Given the description of an element on the screen output the (x, y) to click on. 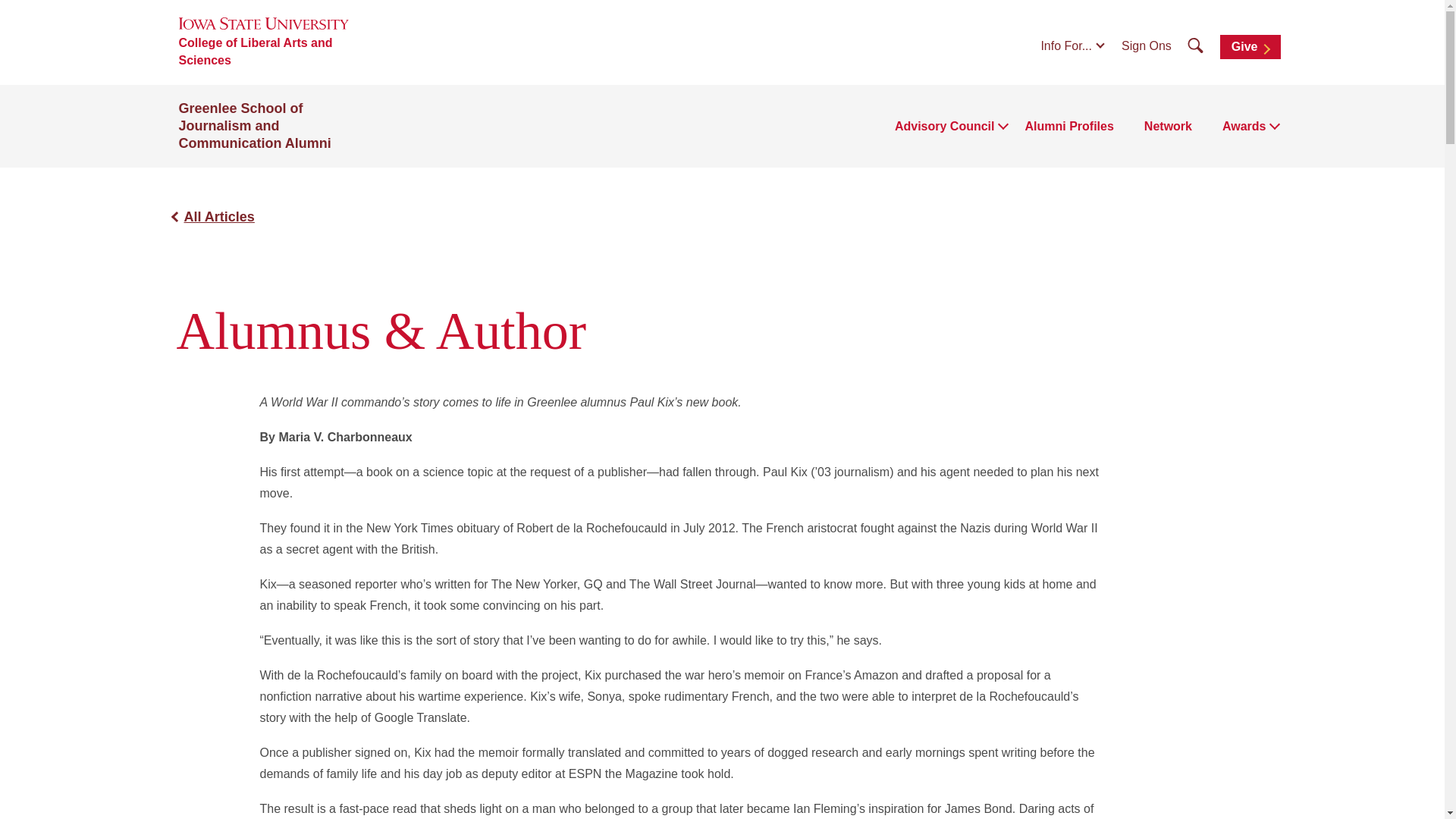
College of Liberal Arts and Sciences (283, 51)
Network (1168, 126)
Info For... (1072, 46)
Search (1195, 45)
All Articles (218, 216)
Advisory Council (944, 126)
Give (1250, 46)
Greenlee School of Journalism and Communication Alumni (255, 125)
Awards (1244, 126)
Sign Ons (1146, 45)
Alumni Profiles (1069, 126)
